Given the description of an element on the screen output the (x, y) to click on. 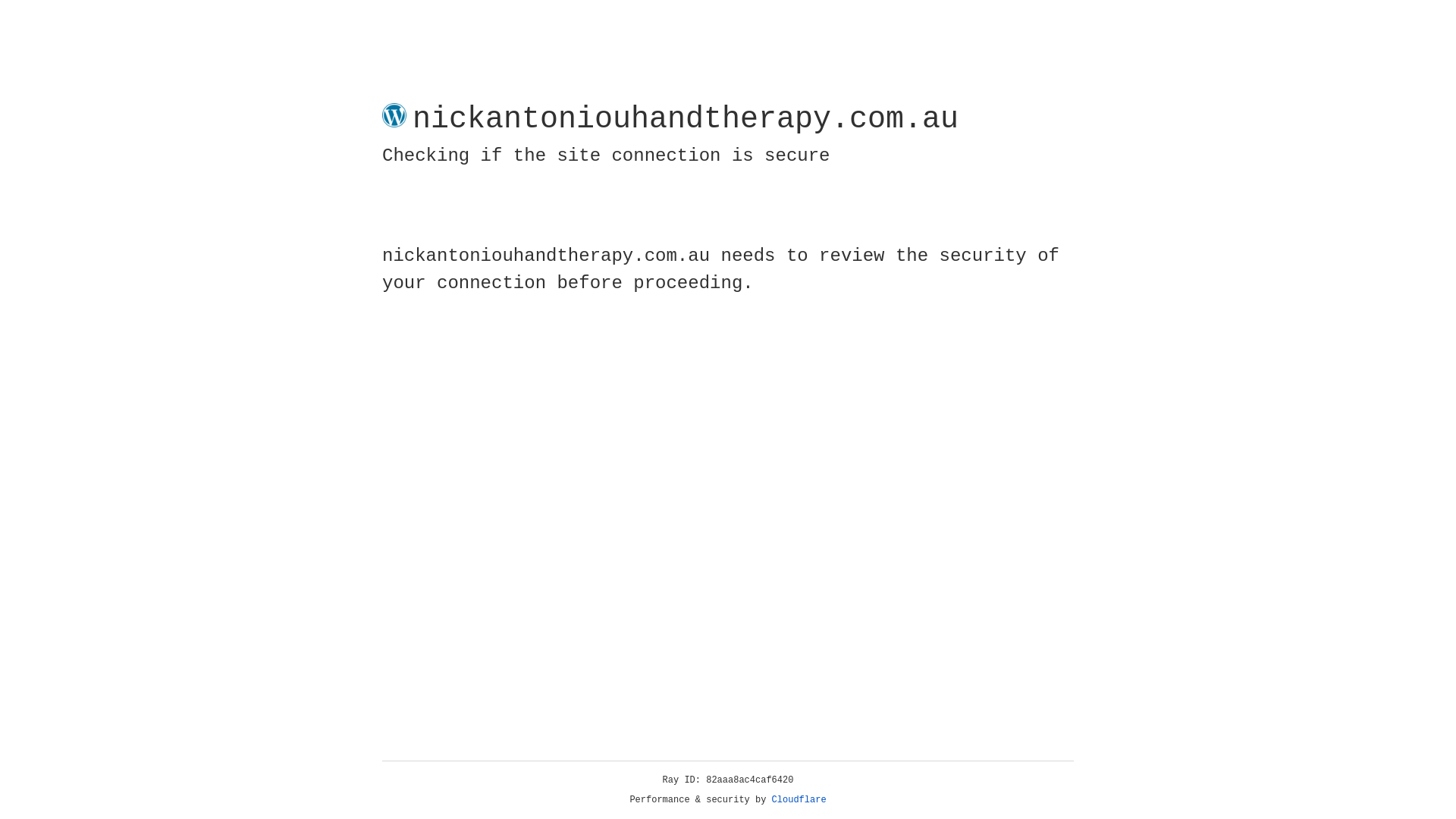
Cloudflare Element type: text (798, 799)
